Given the description of an element on the screen output the (x, y) to click on. 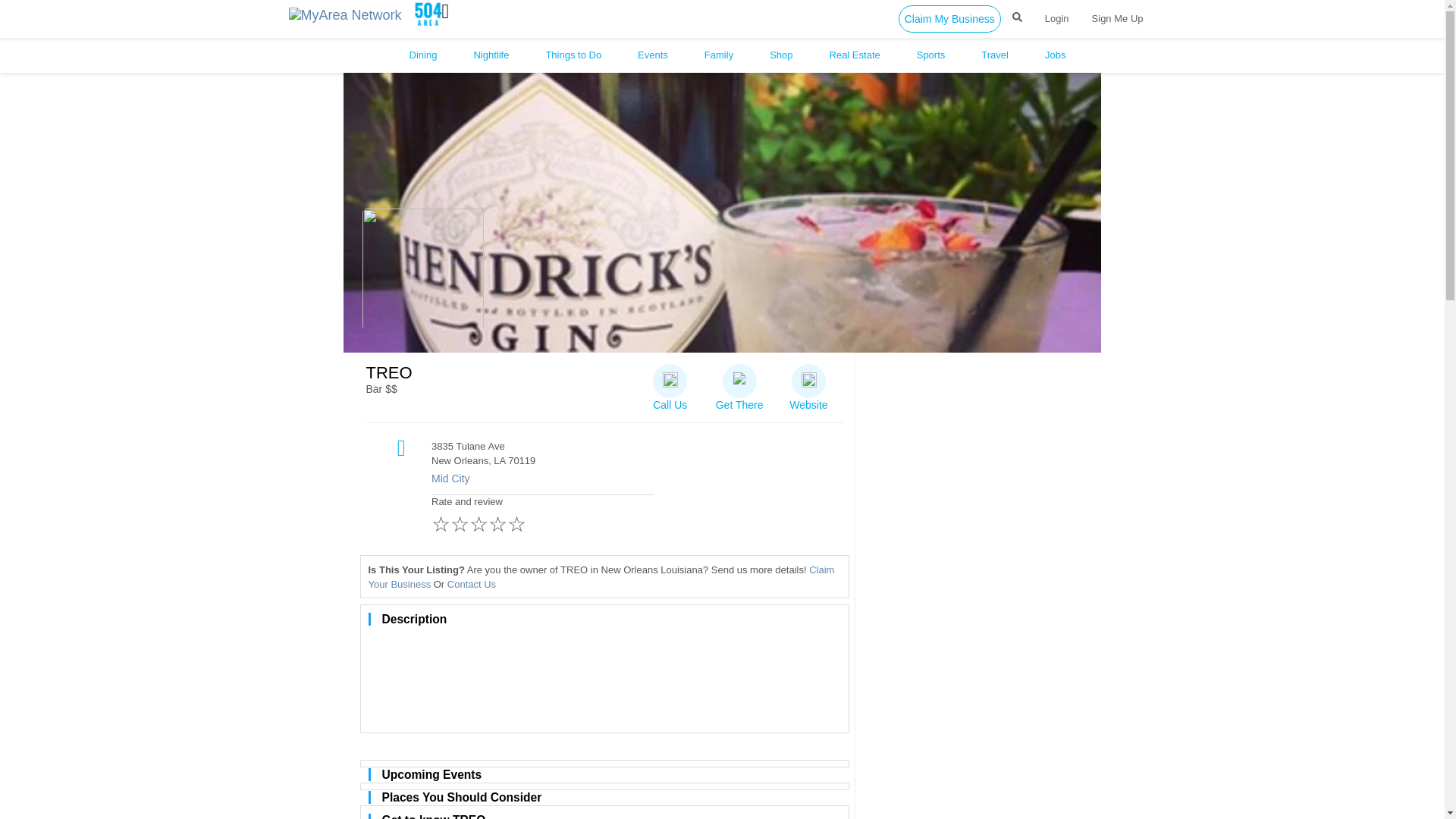
Sign Me Up (1117, 18)
Call Us (670, 382)
Claim Your Business (601, 576)
Login (1056, 18)
Contact Us (471, 583)
Claim My Business (949, 18)
Login (1056, 18)
Sign Me Up (1117, 18)
Claim My Business (949, 18)
Rate and review (541, 516)
